Given the description of an element on the screen output the (x, y) to click on. 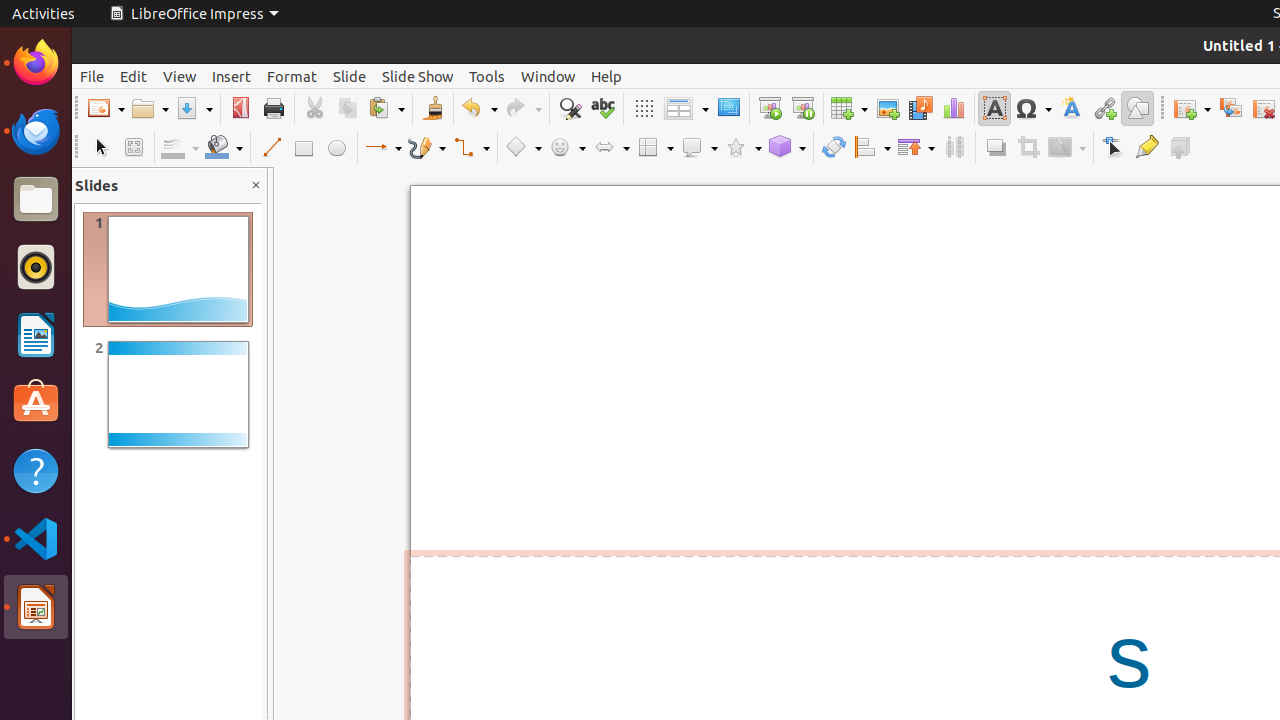
File Element type: menu (92, 76)
3D Objects Element type: push-button (787, 147)
Format Element type: menu (292, 76)
Line Color Element type: push-button (180, 147)
Master Slide Element type: push-button (728, 108)
